Given the description of an element on the screen output the (x, y) to click on. 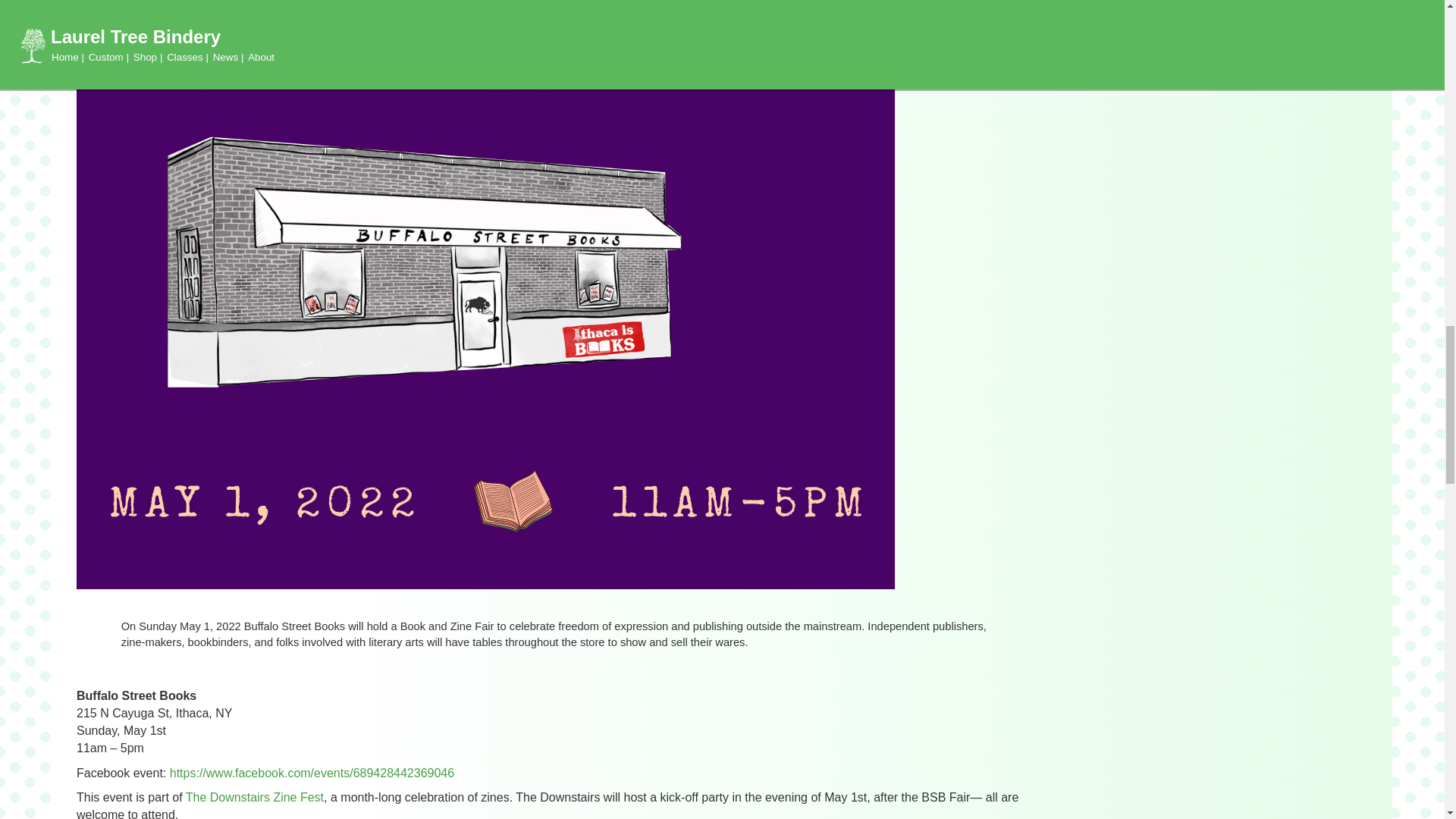
The Downstairs Zine Fest (254, 797)
